Given the description of an element on the screen output the (x, y) to click on. 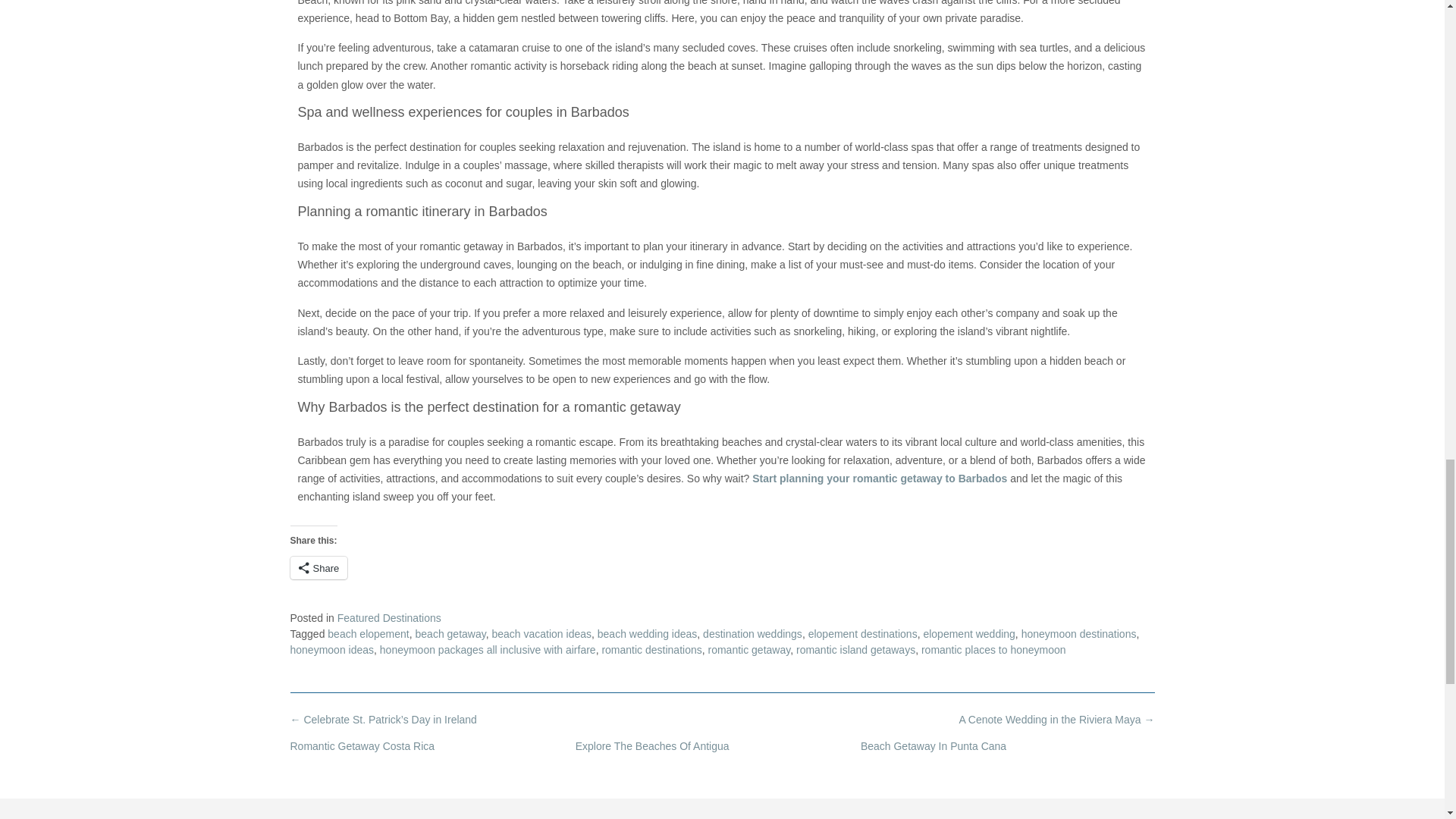
beach vacation ideas (541, 633)
destination weddings (752, 633)
beach elopement (368, 633)
Start planning your romantic getaway to Barbados (881, 478)
elopement wedding (968, 633)
Explore The Beaches Of Antigua (652, 746)
honeymoon ideas (331, 649)
Explore The Beaches Of Antigua (652, 746)
beach wedding ideas (646, 633)
romantic island getaways (855, 649)
Romantic Getaway Costa Rica (361, 746)
elopement destinations (862, 633)
Beach Getaway In Punta Cana (933, 746)
Share (318, 567)
beach getaway (450, 633)
